Given the description of an element on the screen output the (x, y) to click on. 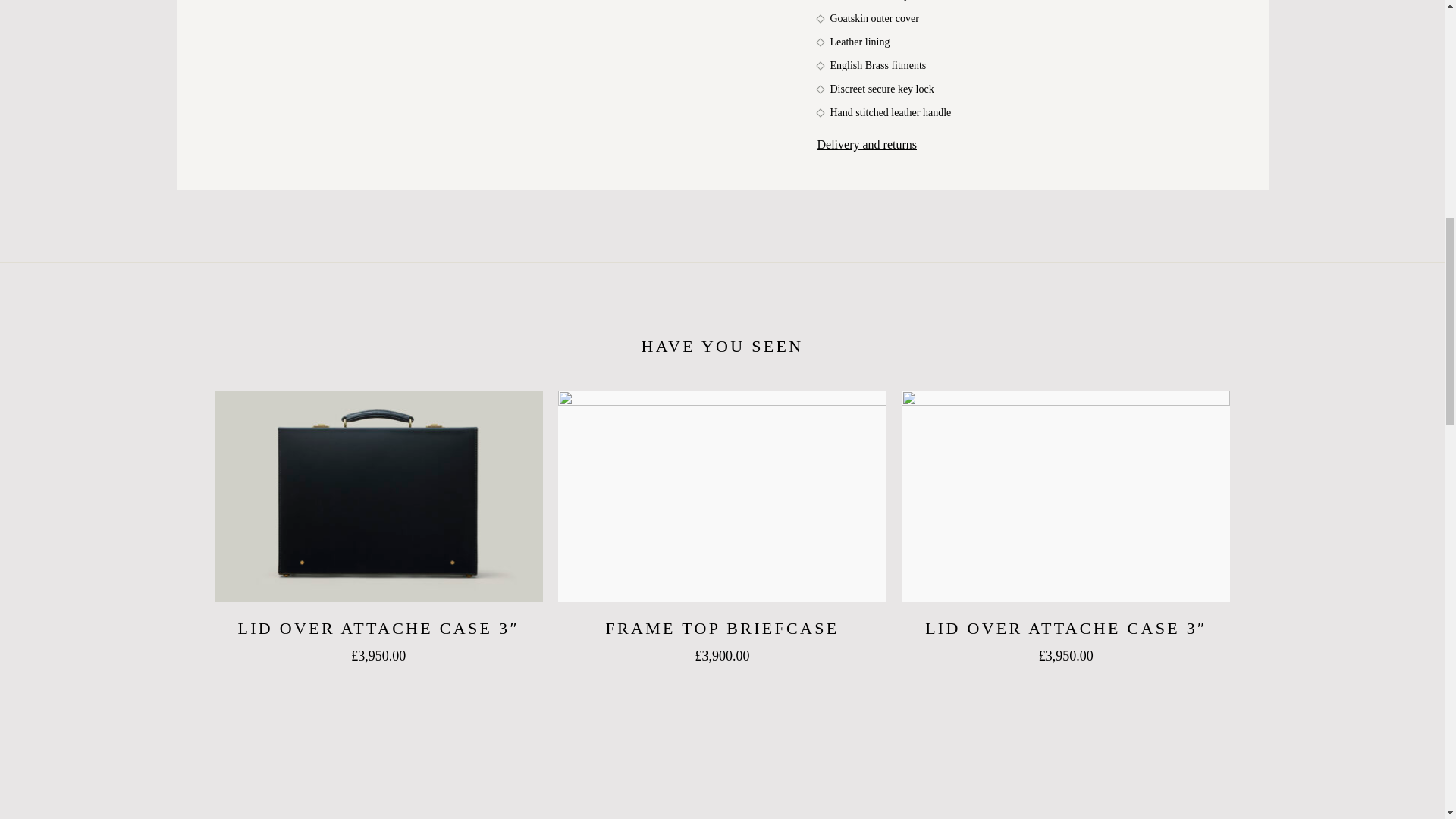
Delivery and returns (866, 144)
